Given the description of an element on the screen output the (x, y) to click on. 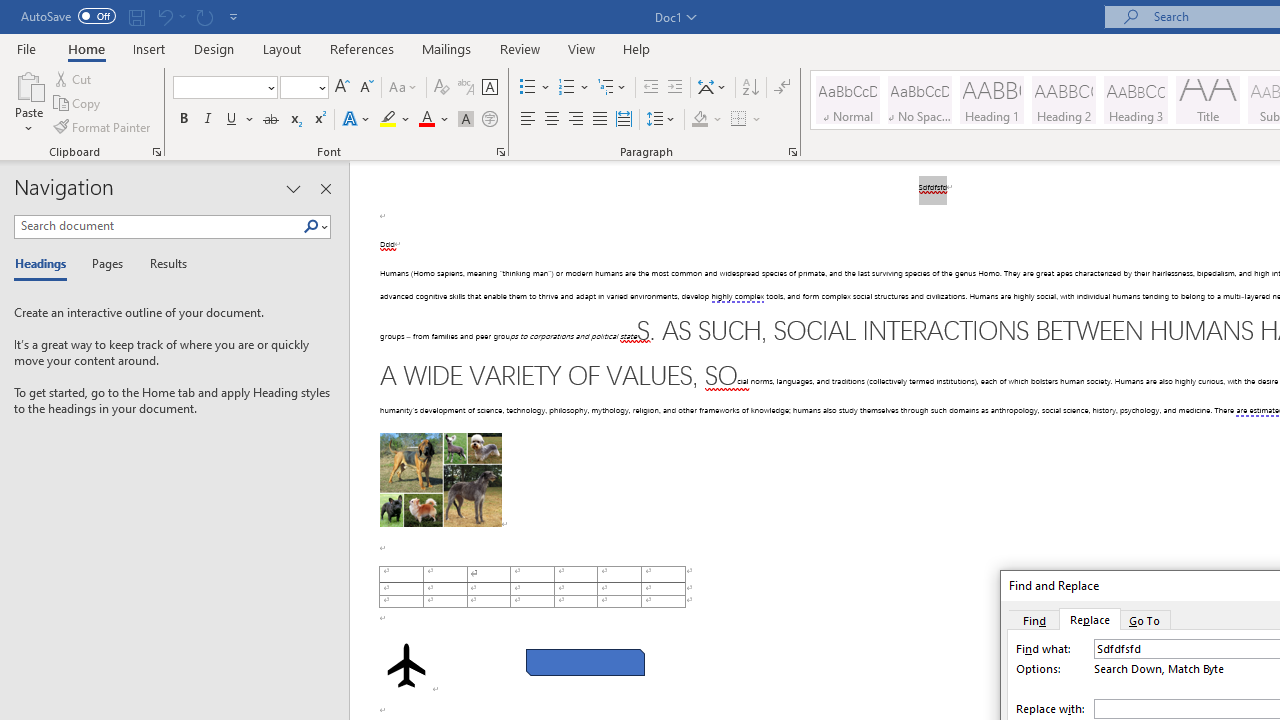
Results (161, 264)
Text Highlight Color Yellow (388, 119)
Bullets (535, 87)
Save (136, 15)
Layout (282, 48)
Underline (232, 119)
Morphological variation in six dogs (440, 479)
Search (311, 227)
Search document (157, 226)
Heading 2 (1063, 100)
References (362, 48)
Heading 1 (991, 100)
Font Color Red (426, 119)
Asian Layout (712, 87)
Paragraph... (792, 151)
